Given the description of an element on the screen output the (x, y) to click on. 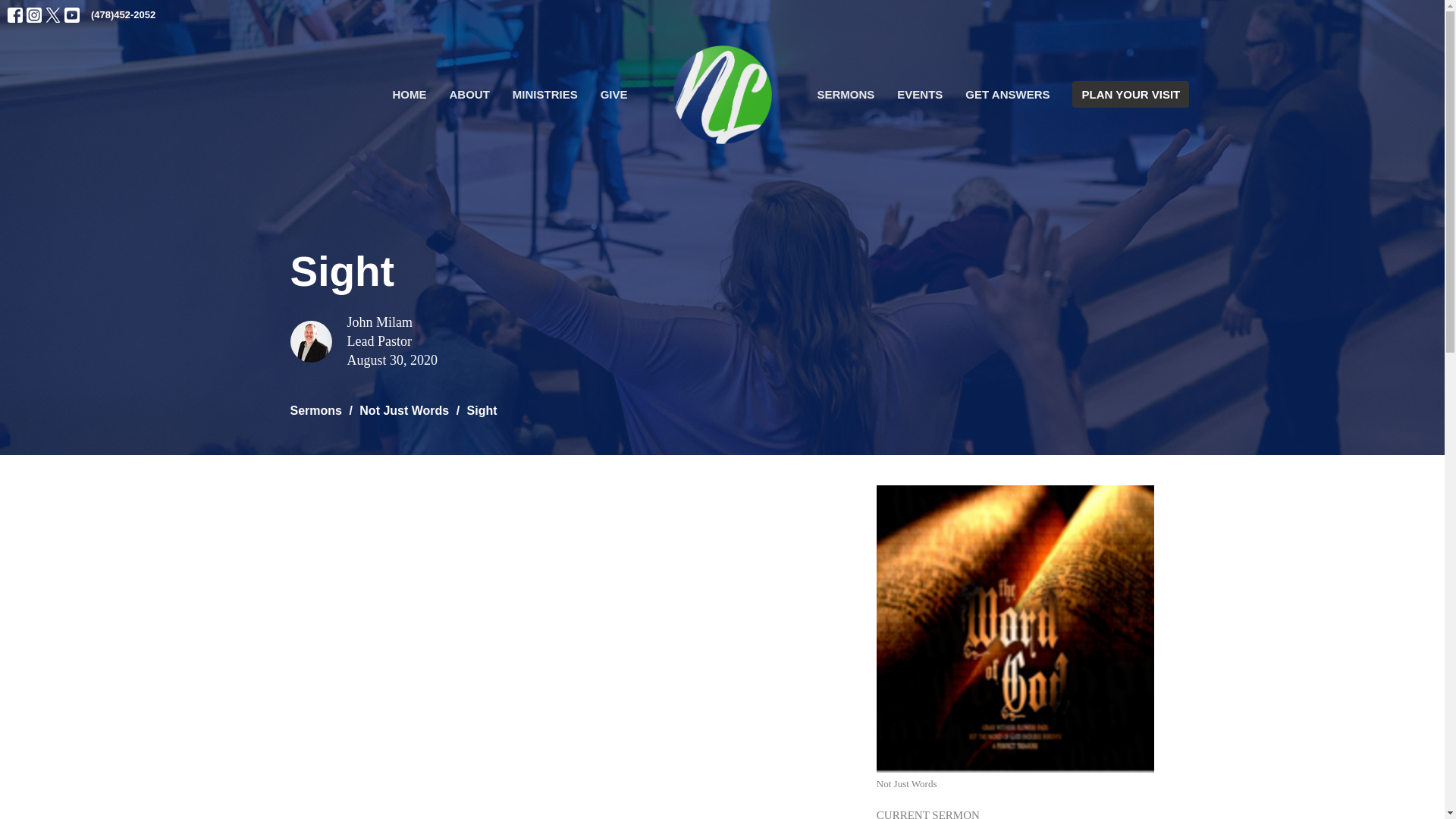
SERMONS (845, 94)
Not Just Words (1015, 708)
GET ANSWERS (1007, 94)
MINISTRIES (545, 94)
Sermons (314, 410)
ABOUT (468, 94)
Not Just Words (403, 410)
PLAN YOUR VISIT (1130, 94)
EVENTS (919, 94)
HOME (408, 94)
GIVE (613, 94)
